Given the description of an element on the screen output the (x, y) to click on. 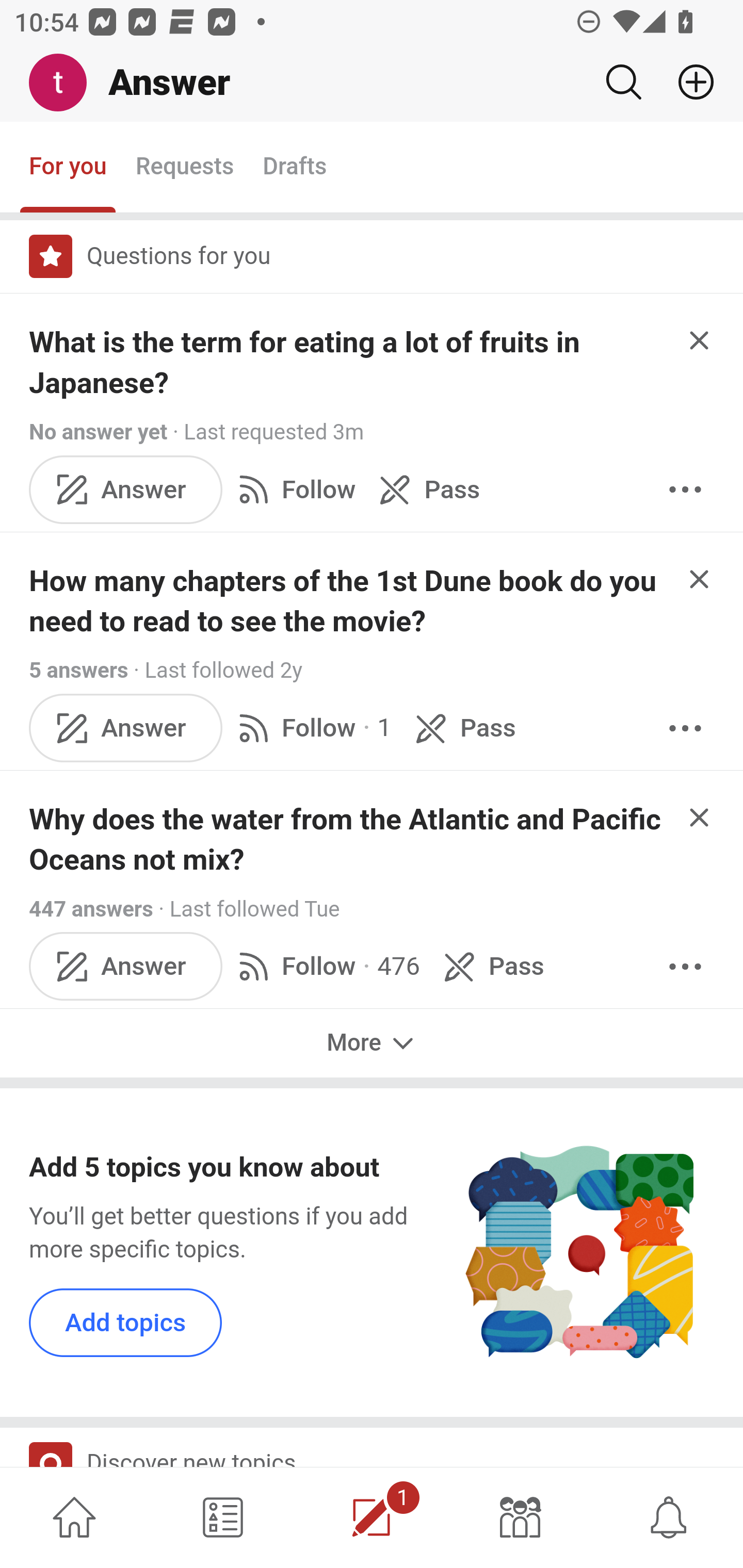
Me (64, 83)
Search (623, 82)
Add (688, 82)
For you (68, 167)
Requests (183, 167)
Drafts (295, 167)
Hide (699, 340)
No answer yet (97, 431)
Answer (125, 488)
Follow (293, 488)
Pass (425, 488)
More (684, 488)
Hide (699, 579)
5 answers 5  answers (79, 670)
Answer (125, 728)
Follow · 1 (311, 728)
Pass (461, 728)
More (684, 728)
Hide (699, 817)
447 answers 447  answers (90, 909)
Answer (125, 965)
Follow · 476 (324, 965)
Pass (490, 965)
More (684, 965)
More (371, 1042)
Add topics (125, 1322)
